Given the description of an element on the screen output the (x, y) to click on. 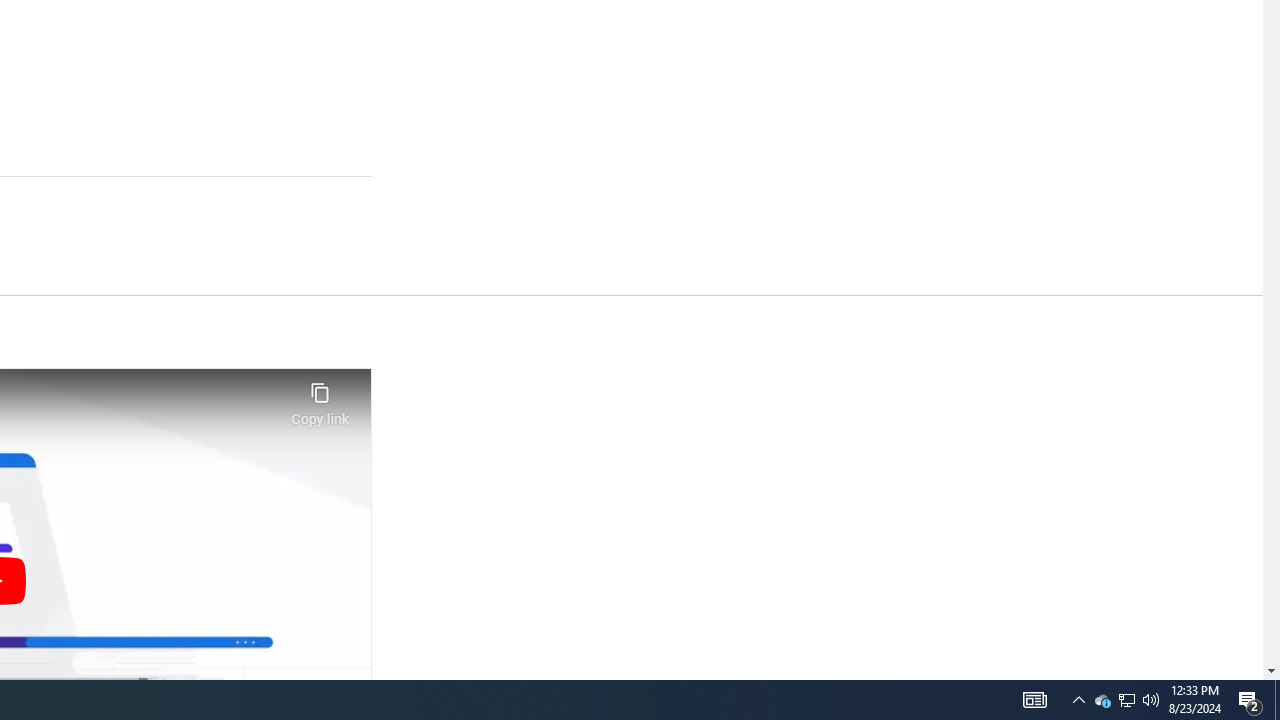
Copy link (319, 398)
